Given the description of an element on the screen output the (x, y) to click on. 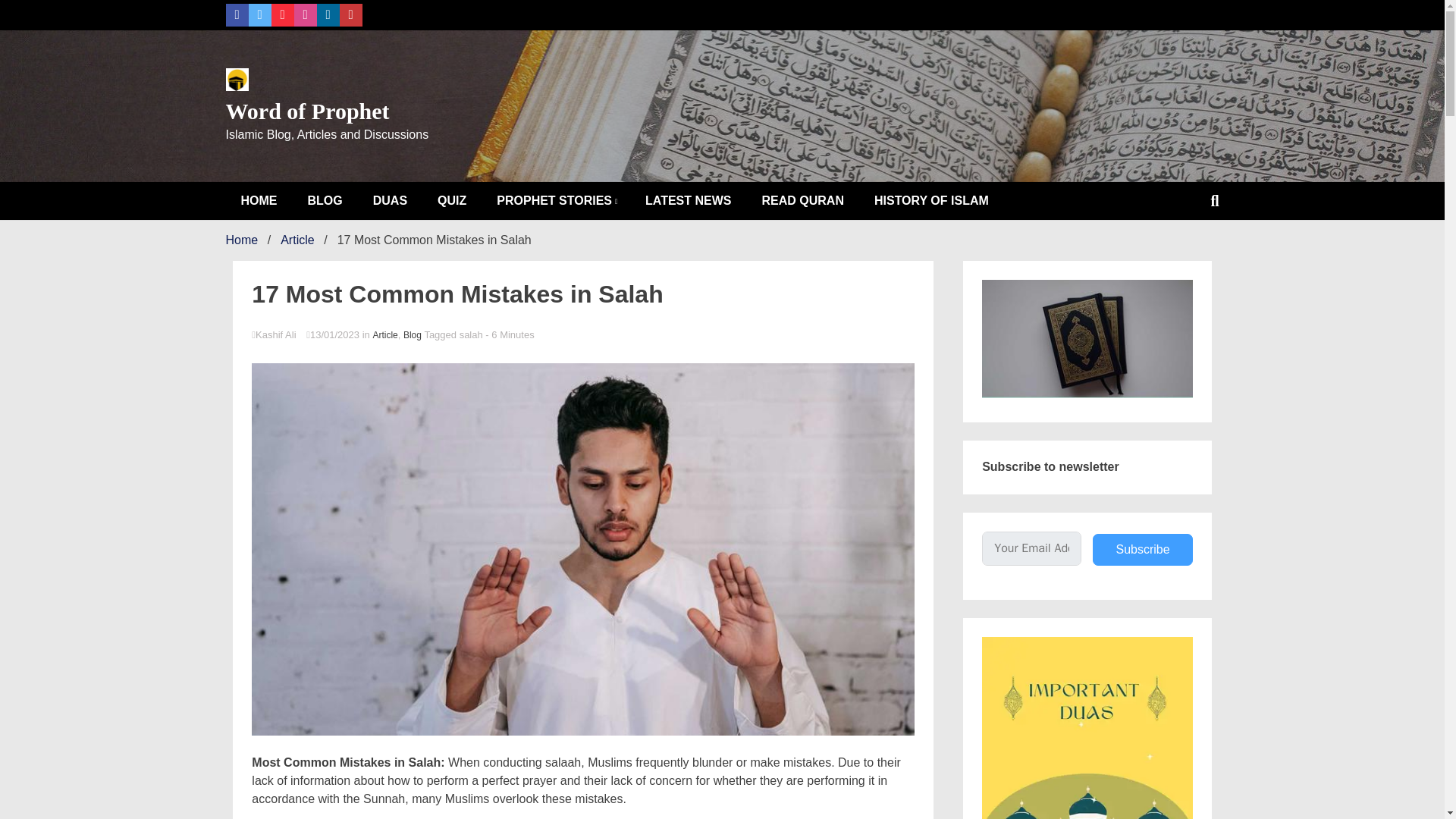
Article (384, 335)
PROPHET STORIES (555, 200)
HOME (258, 200)
salah (471, 334)
Article (297, 239)
HISTORY OF ISLAM (931, 200)
Home (242, 239)
Estimated Reading Time of Article (509, 334)
Kashif Ali (582, 335)
READ QURAN (802, 200)
